Given the description of an element on the screen output the (x, y) to click on. 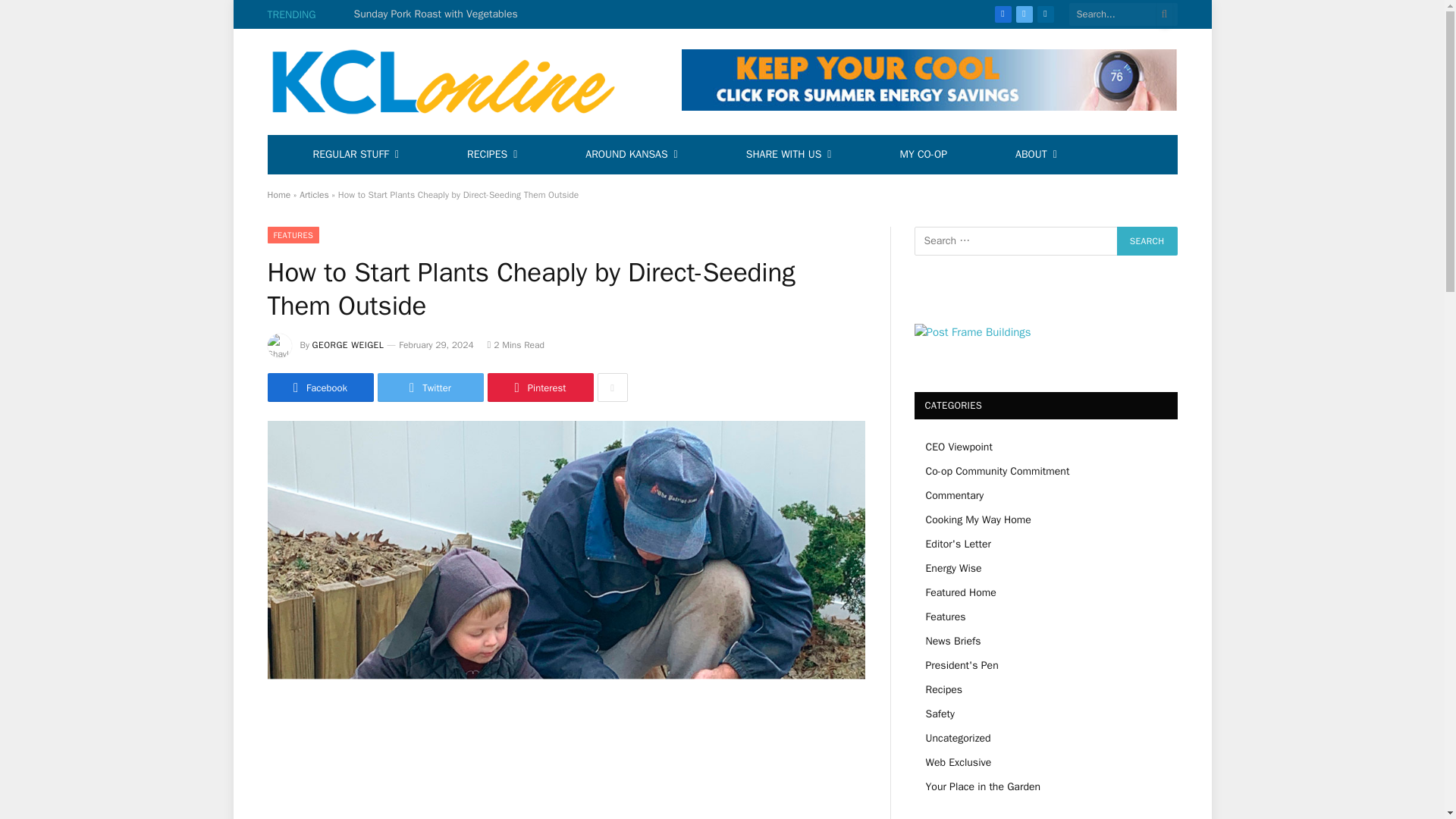
SHARE WITH US (788, 154)
Search (1146, 240)
AROUND KANSAS (631, 154)
Show More Social Sharing (611, 387)
Posts by George Weigel (348, 345)
REGULAR STUFF (356, 154)
Share on Facebook (319, 387)
RECIPES (491, 154)
Kansas Country Living Magazine (452, 81)
Share on Pinterest (539, 387)
